Given the description of an element on the screen output the (x, y) to click on. 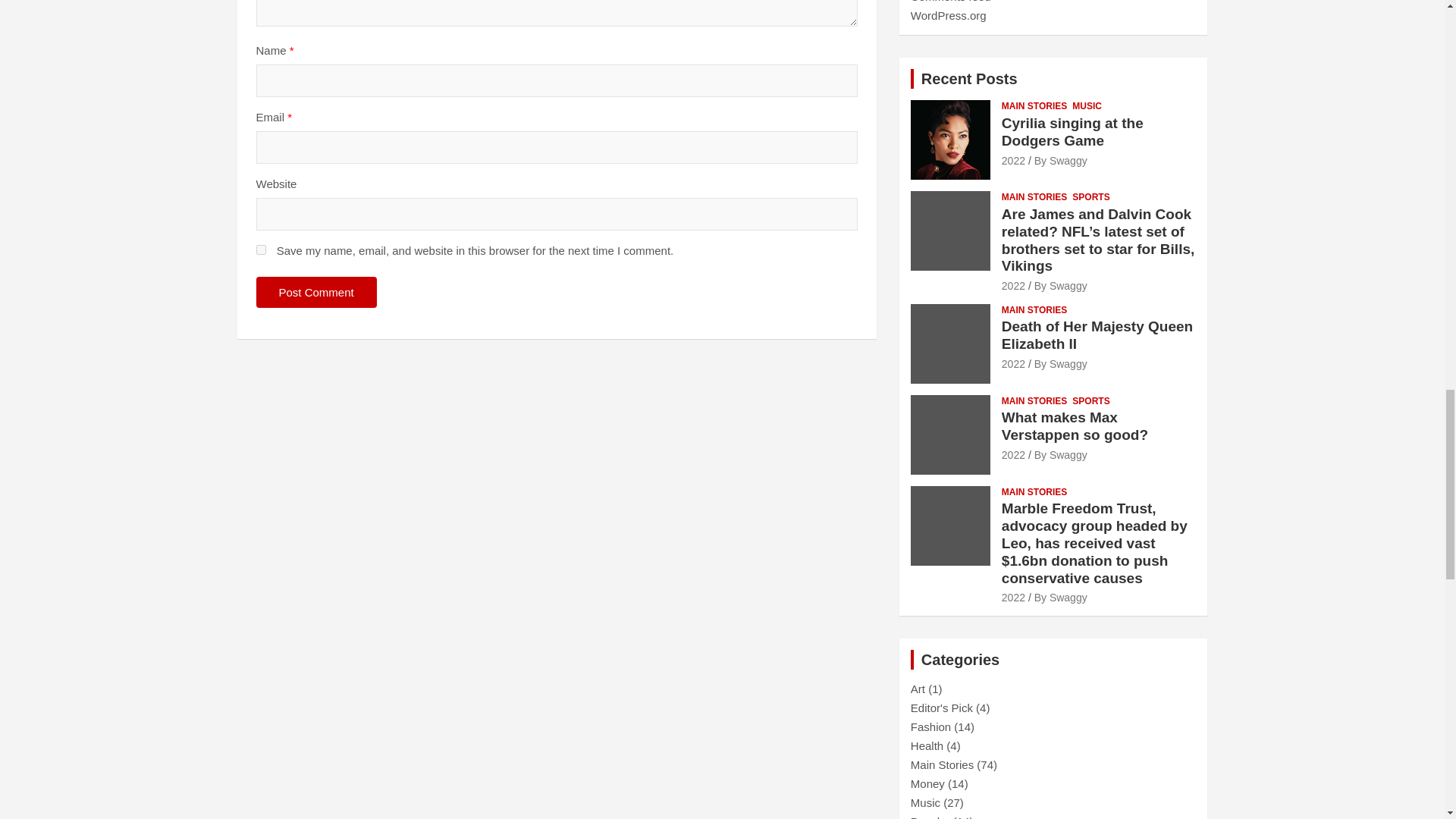
Cyrilia singing at the Dodgers Game (1013, 160)
Death of Her Majesty Queen Elizabeth II (1013, 363)
Post Comment (316, 291)
What makes Max Verstappen so good? (1013, 454)
yes (261, 249)
Post Comment (316, 291)
